Given the description of an element on the screen output the (x, y) to click on. 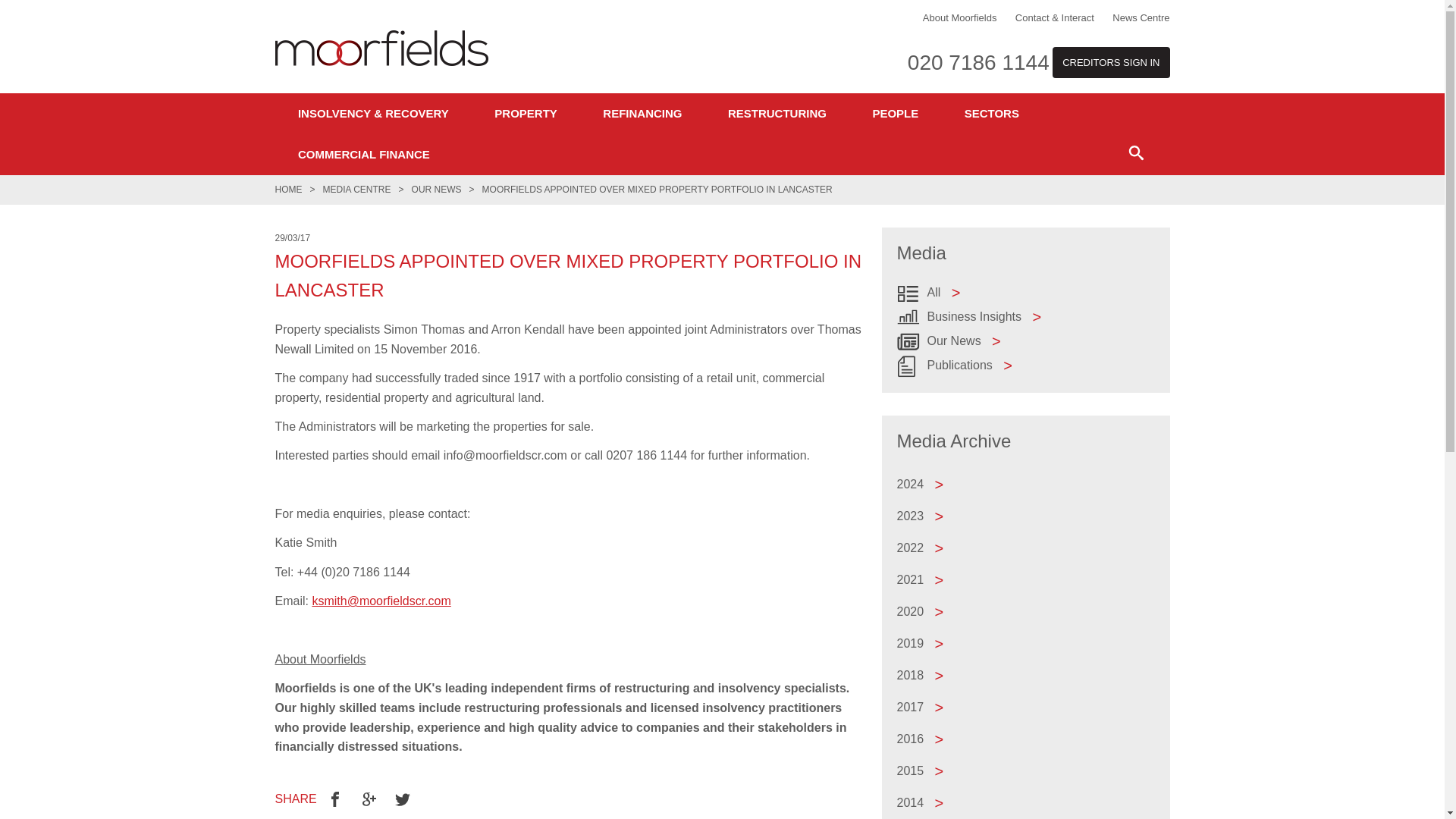
News Centre (1140, 17)
PROPERTY (525, 113)
PEOPLE (895, 113)
SECTORS (991, 113)
CREDITORS SIGN IN (1110, 62)
REFINANCING (642, 113)
About Moorfields (960, 17)
RESTRUCTURING (777, 113)
